Given the description of an element on the screen output the (x, y) to click on. 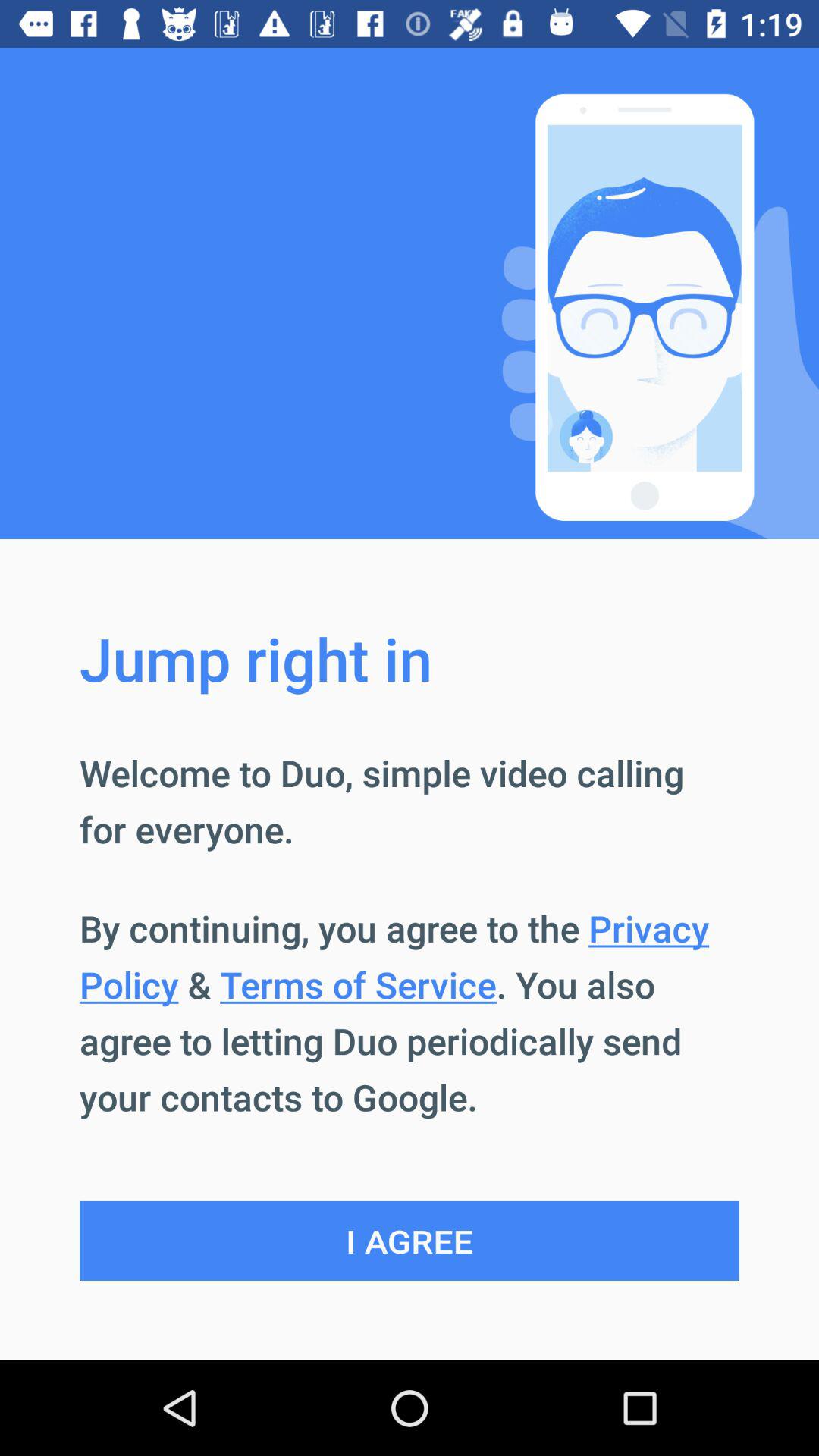
press the by continuing you icon (409, 1012)
